Given the description of an element on the screen output the (x, y) to click on. 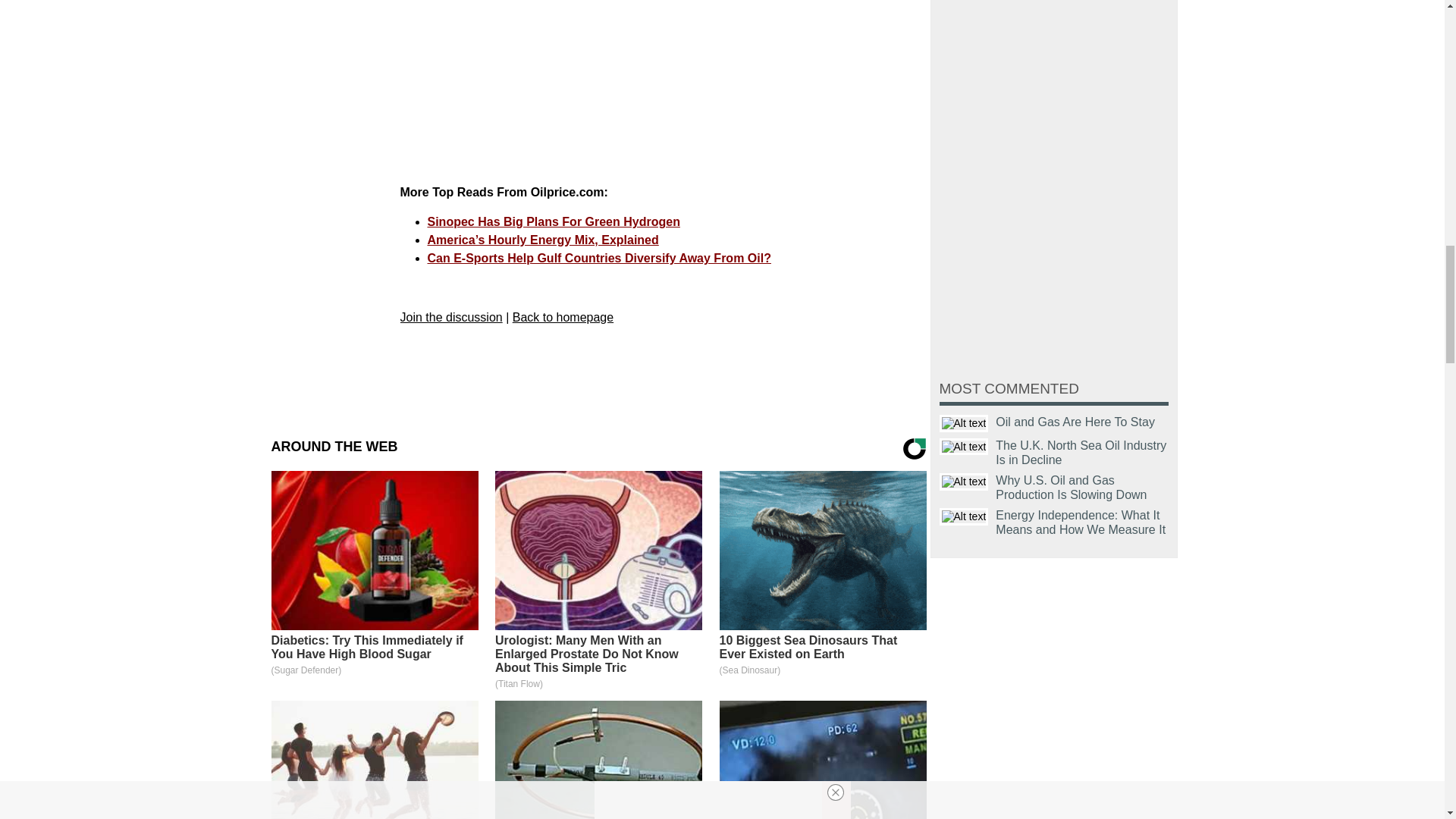
Title text (963, 423)
Title text (963, 446)
3rd party ad content (655, 85)
Title text (963, 481)
